Given the description of an element on the screen output the (x, y) to click on. 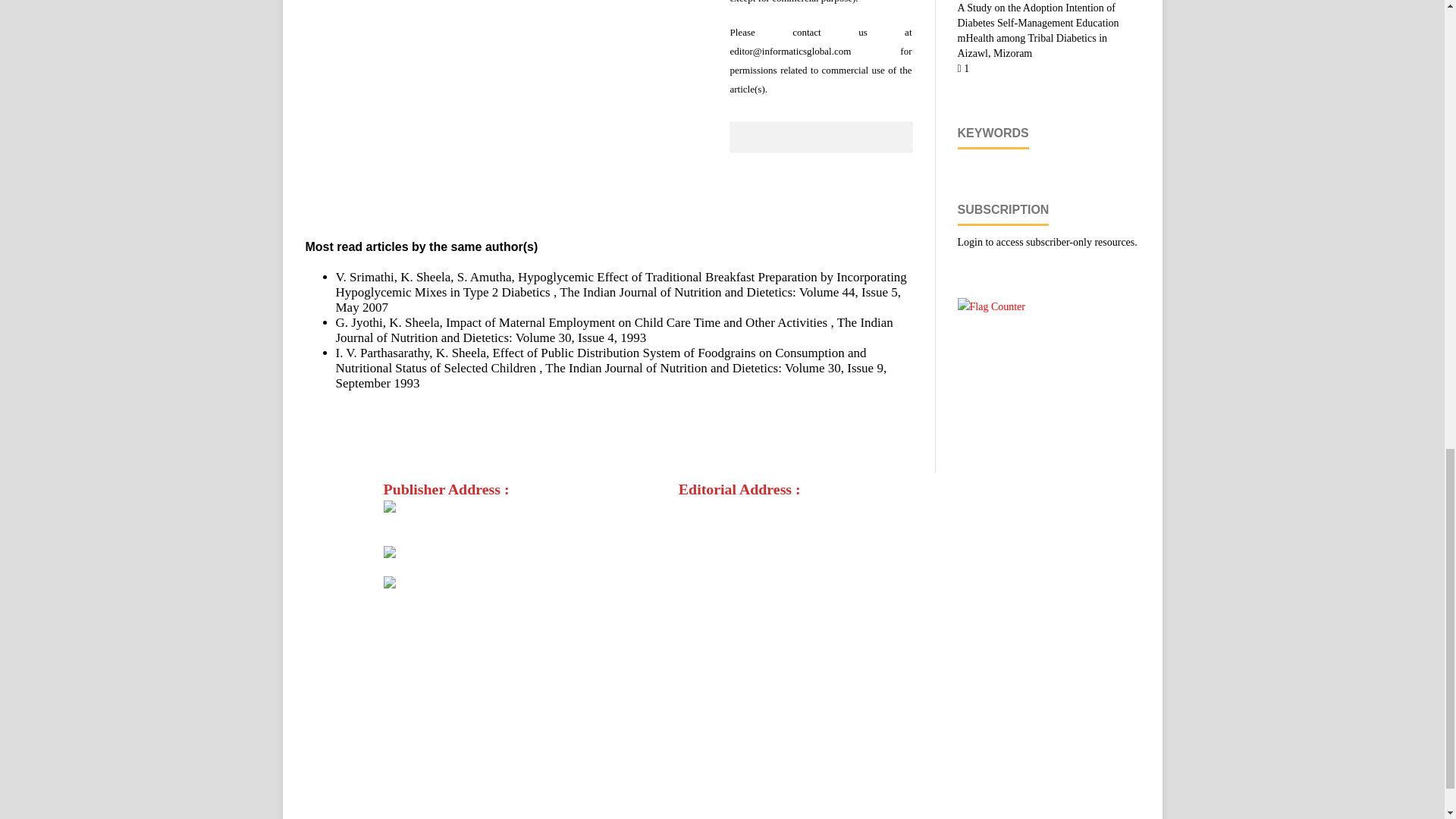
wd-envelope-light (437, 583)
wd-phone-light (430, 553)
wd-cursor-light (430, 507)
